Given the description of an element on the screen output the (x, y) to click on. 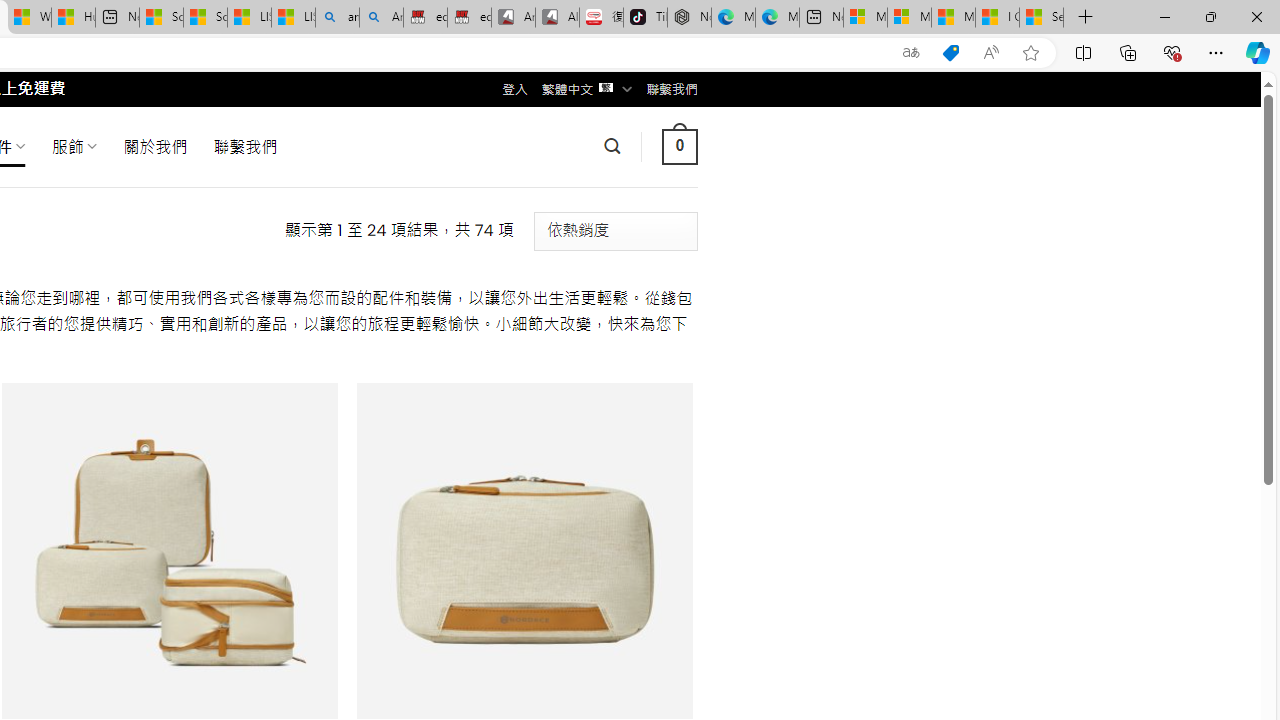
Show translate options (910, 53)
TikTok (644, 17)
